Given the description of an element on the screen output the (x, y) to click on. 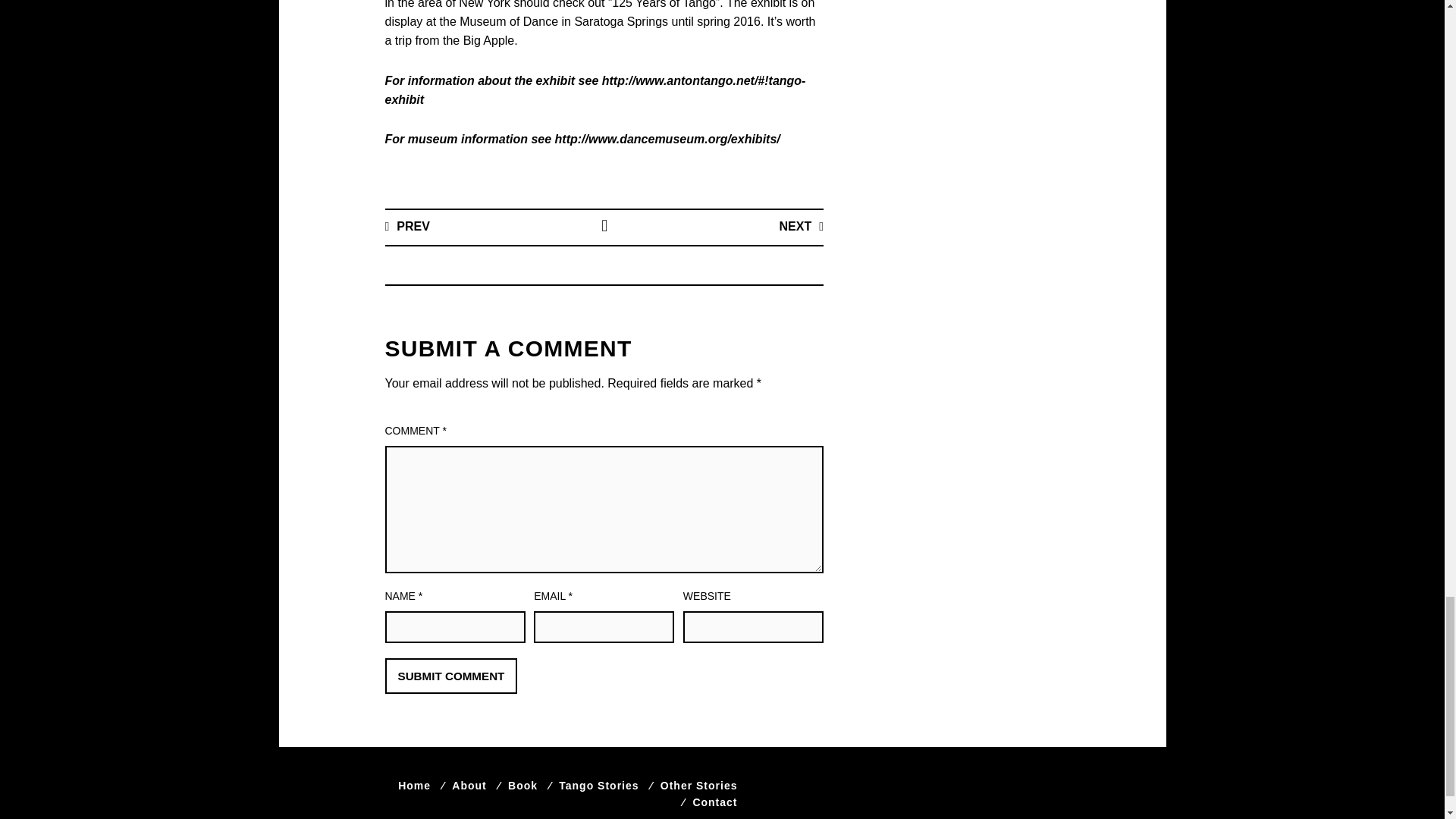
PREV (407, 226)
NEXT (801, 226)
Submit comment (451, 676)
